Given the description of an element on the screen output the (x, y) to click on. 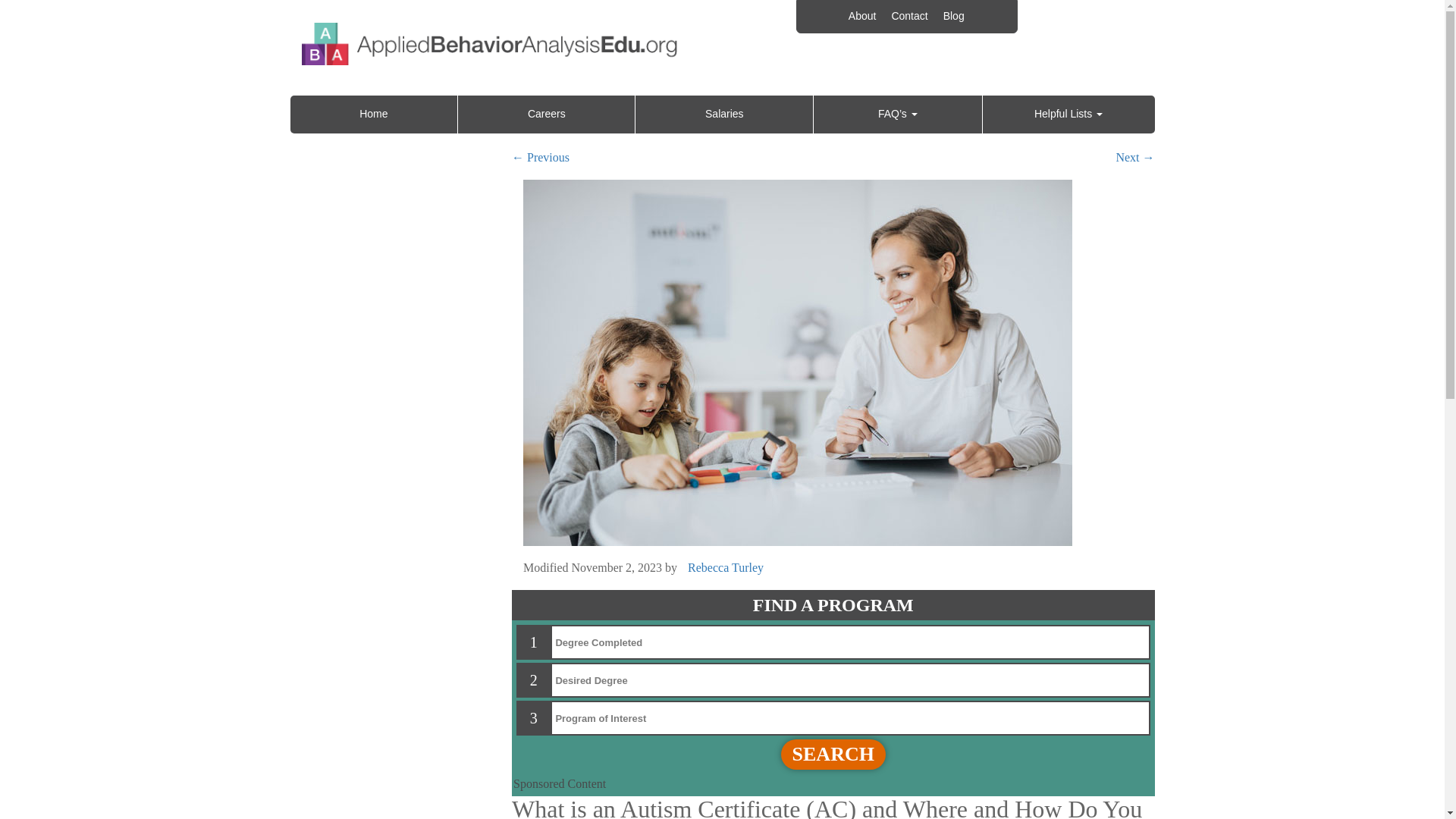
Salaries (723, 114)
Blog (953, 16)
Salaries (723, 114)
Contact (908, 16)
Careers (545, 114)
About (862, 16)
Home (373, 114)
Careers (545, 114)
Home (373, 114)
FAQ's (896, 114)
